Given the description of an element on the screen output the (x, y) to click on. 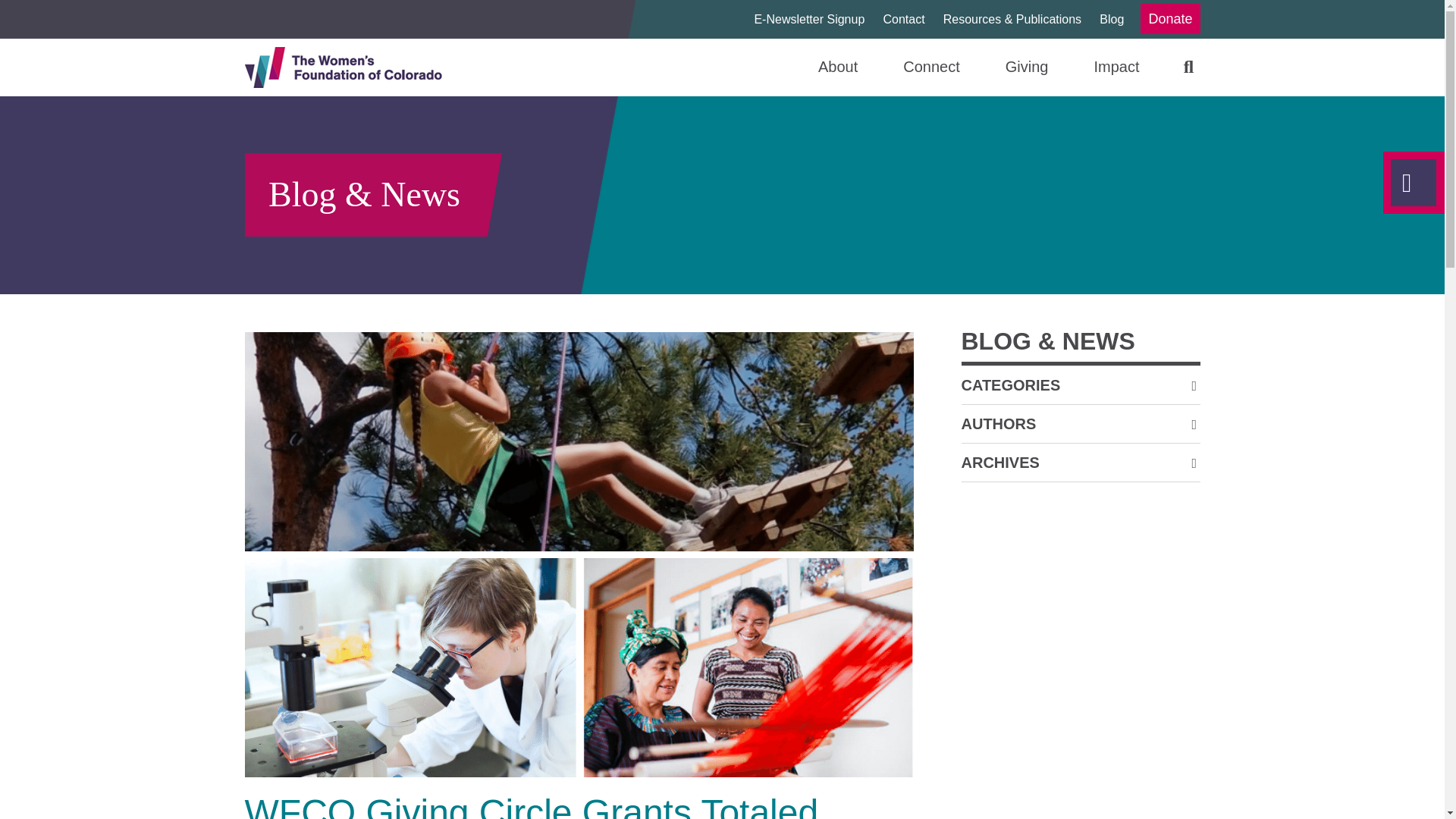
Impact (1093, 66)
Connect (908, 66)
CATEGORIES (1010, 384)
Giving (1003, 66)
Search (1168, 66)
Blog (1104, 19)
E-Newsletter Signup (801, 19)
About (815, 66)
Contact (895, 19)
Donate (1169, 19)
